Given the description of an element on the screen output the (x, y) to click on. 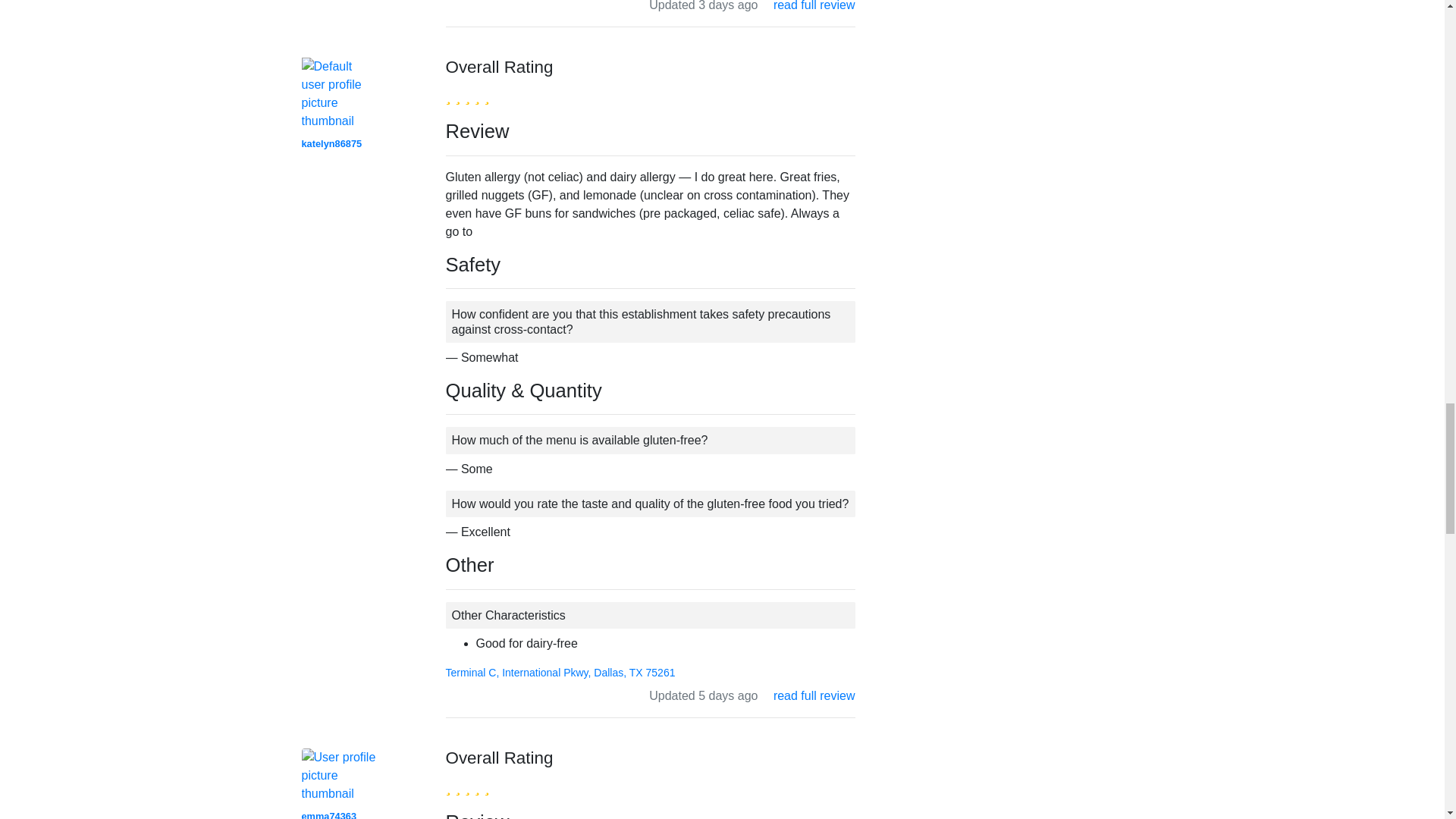
katelyn86875 (331, 143)
read full review (814, 5)
5 star rating (467, 786)
emma74363 (328, 814)
Terminal C, International Pkwy, Dallas, TX 75261 (560, 672)
read full review (814, 695)
5 star rating (467, 95)
